Given the description of an element on the screen output the (x, y) to click on. 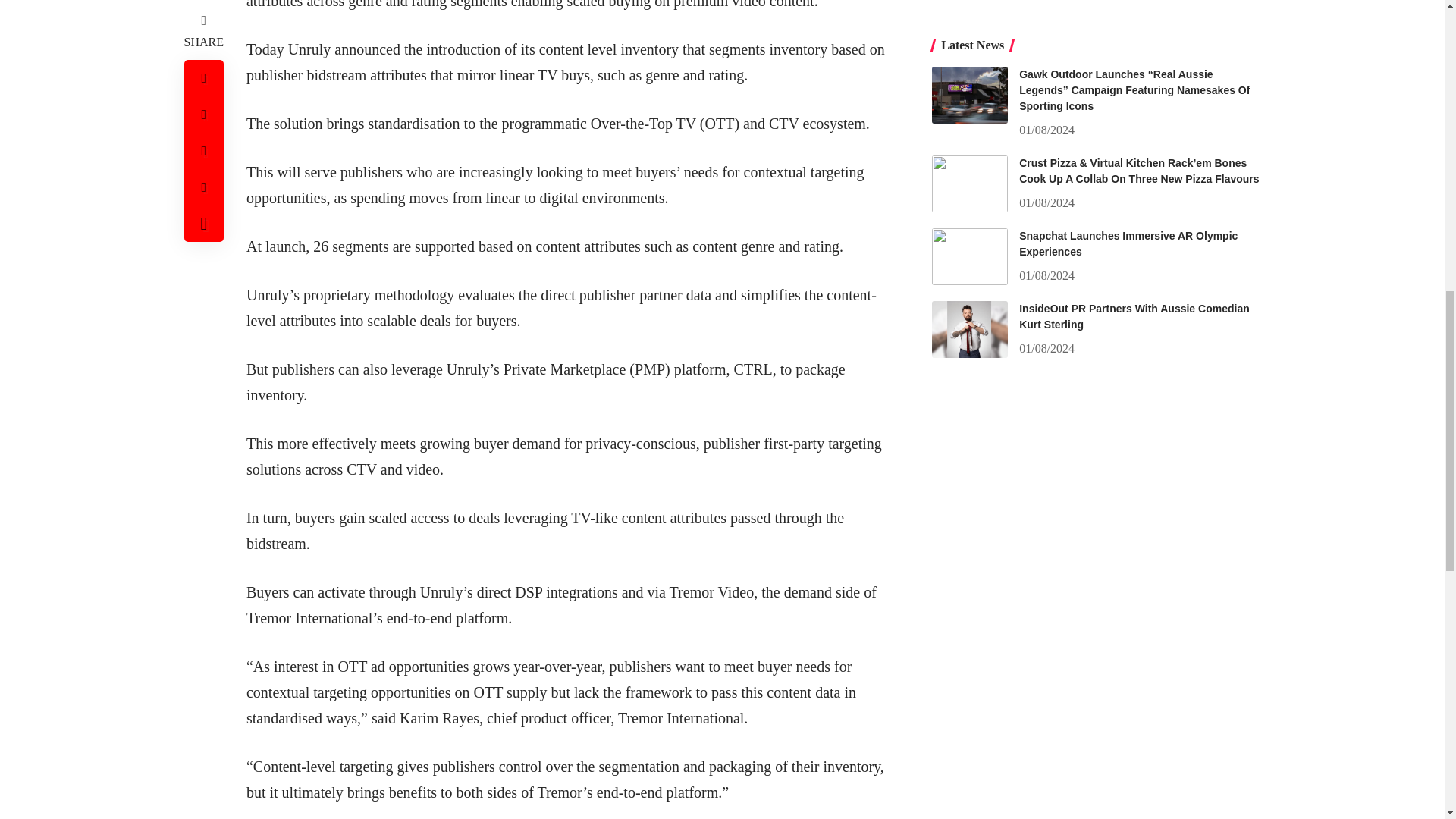
InsideOut PR Partners With Aussie Comedian Kurt Sterling (969, 31)
